Given the description of an element on the screen output the (x, y) to click on. 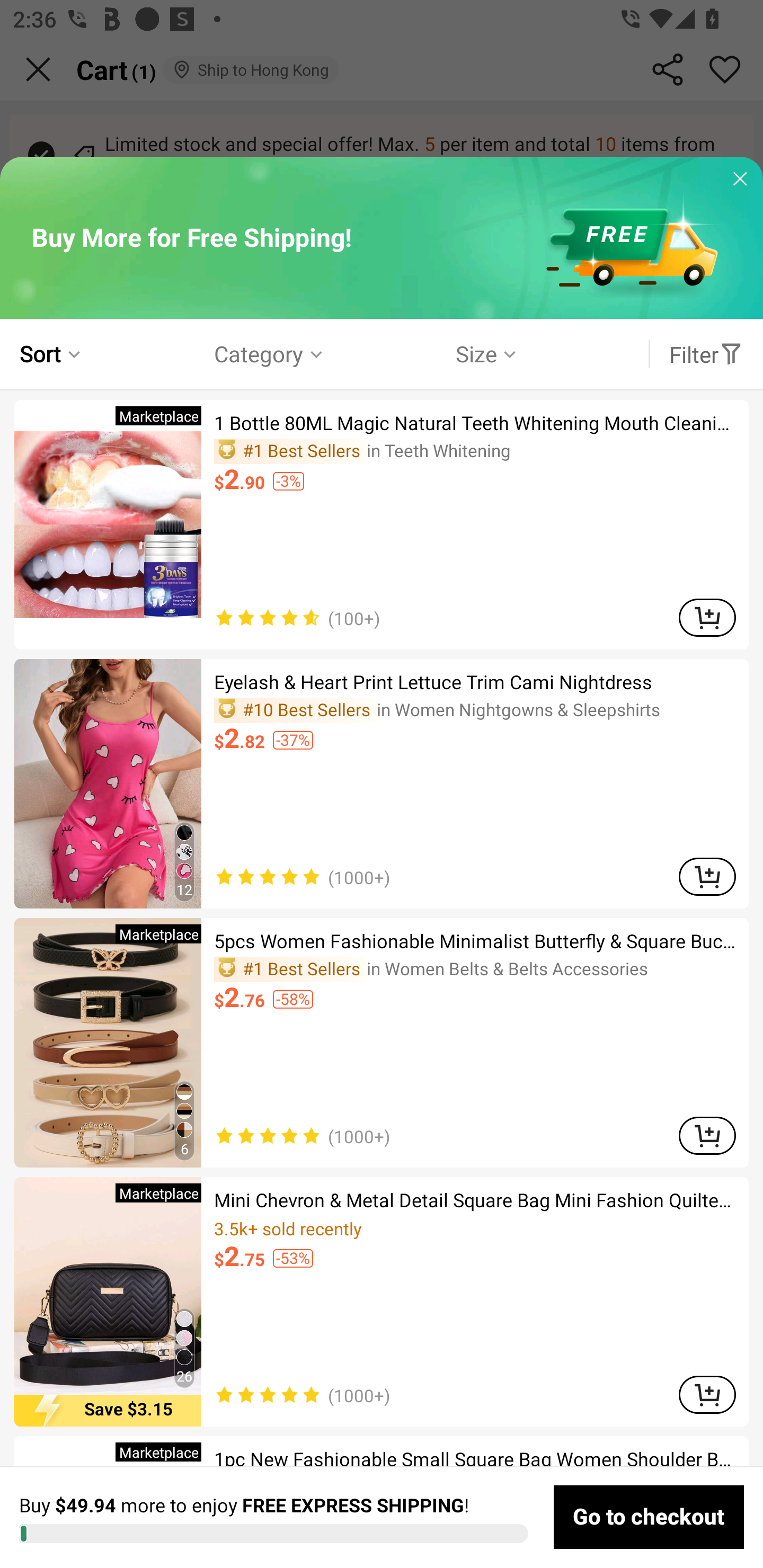
Sort (51, 353)
Category (269, 353)
Size (487, 353)
Filter (705, 353)
ADD TO CART (707, 617)
ADD TO CART (707, 876)
ADD TO CART (707, 1135)
ADD TO CART (707, 1394)
Go to checkout (648, 1516)
